Given the description of an element on the screen output the (x, y) to click on. 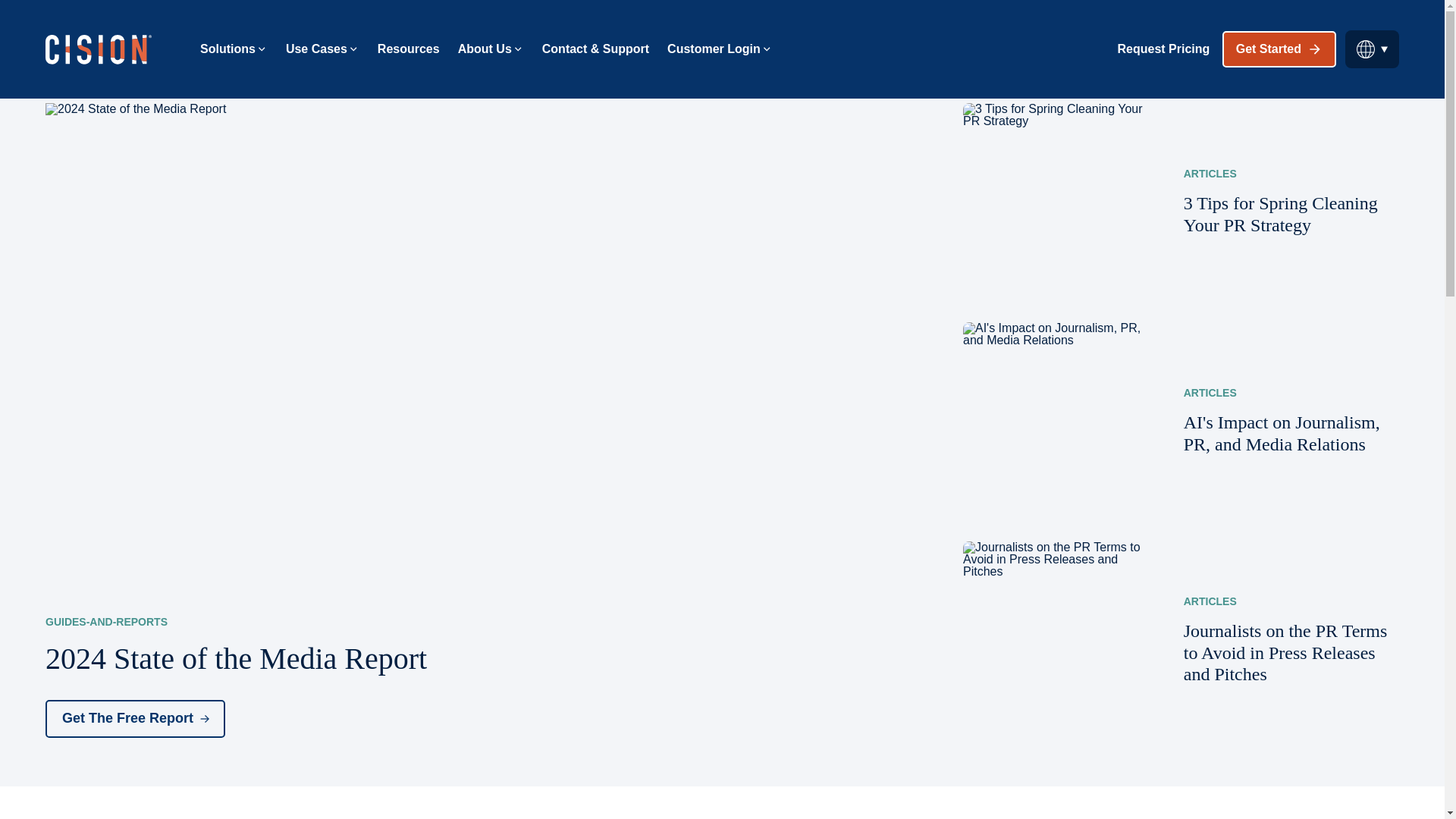
Resources (408, 49)
Use Cases (322, 49)
Solutions (233, 49)
About Us (491, 49)
